Given the description of an element on the screen output the (x, y) to click on. 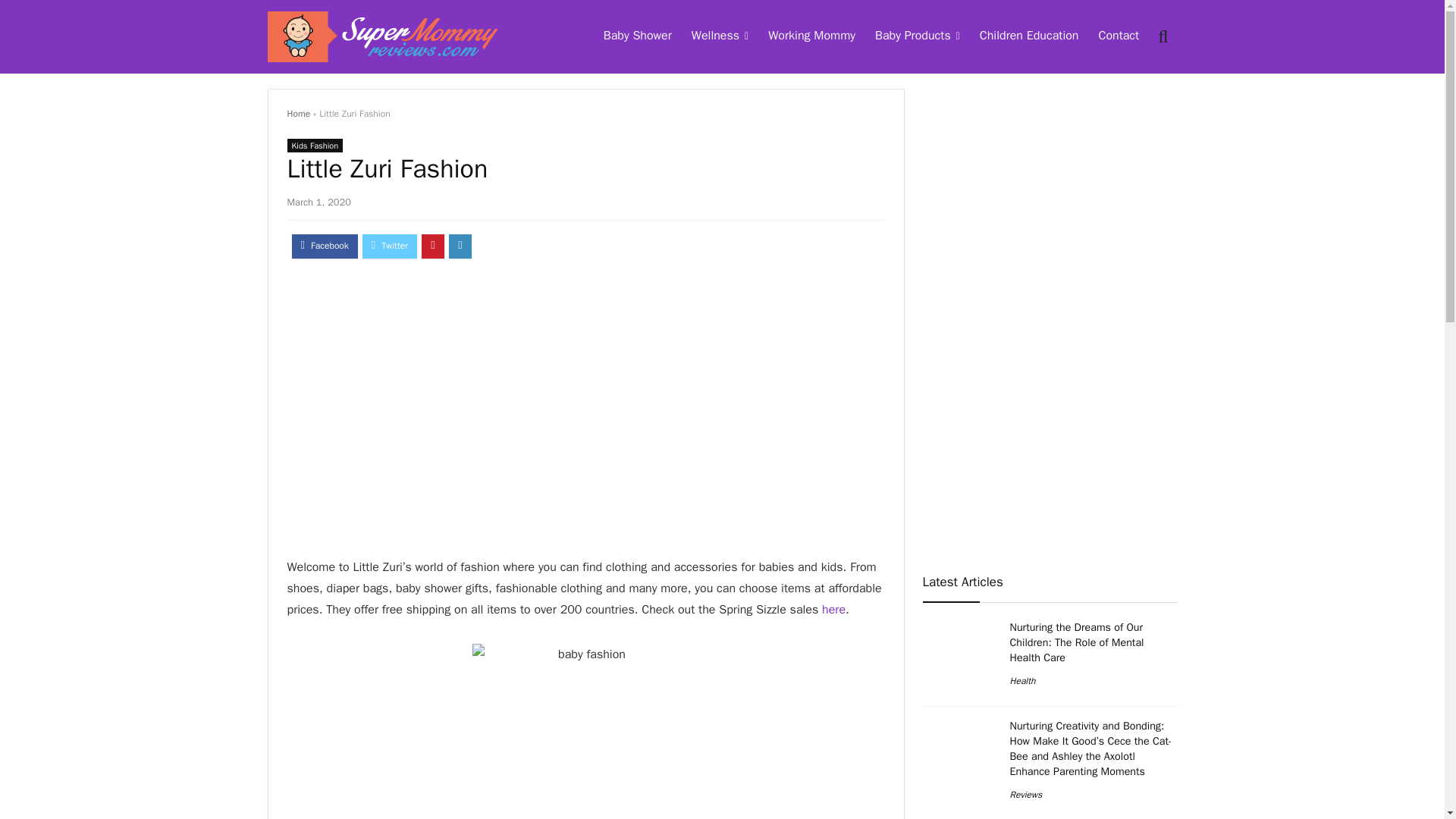
Health (1022, 680)
Contact (1117, 36)
View all posts in Kids Fashion (314, 145)
Reviews (1026, 794)
Home (298, 113)
Baby Products (916, 36)
Kids Fashion (314, 145)
Working Mommy (811, 36)
here (833, 609)
